Given the description of an element on the screen output the (x, y) to click on. 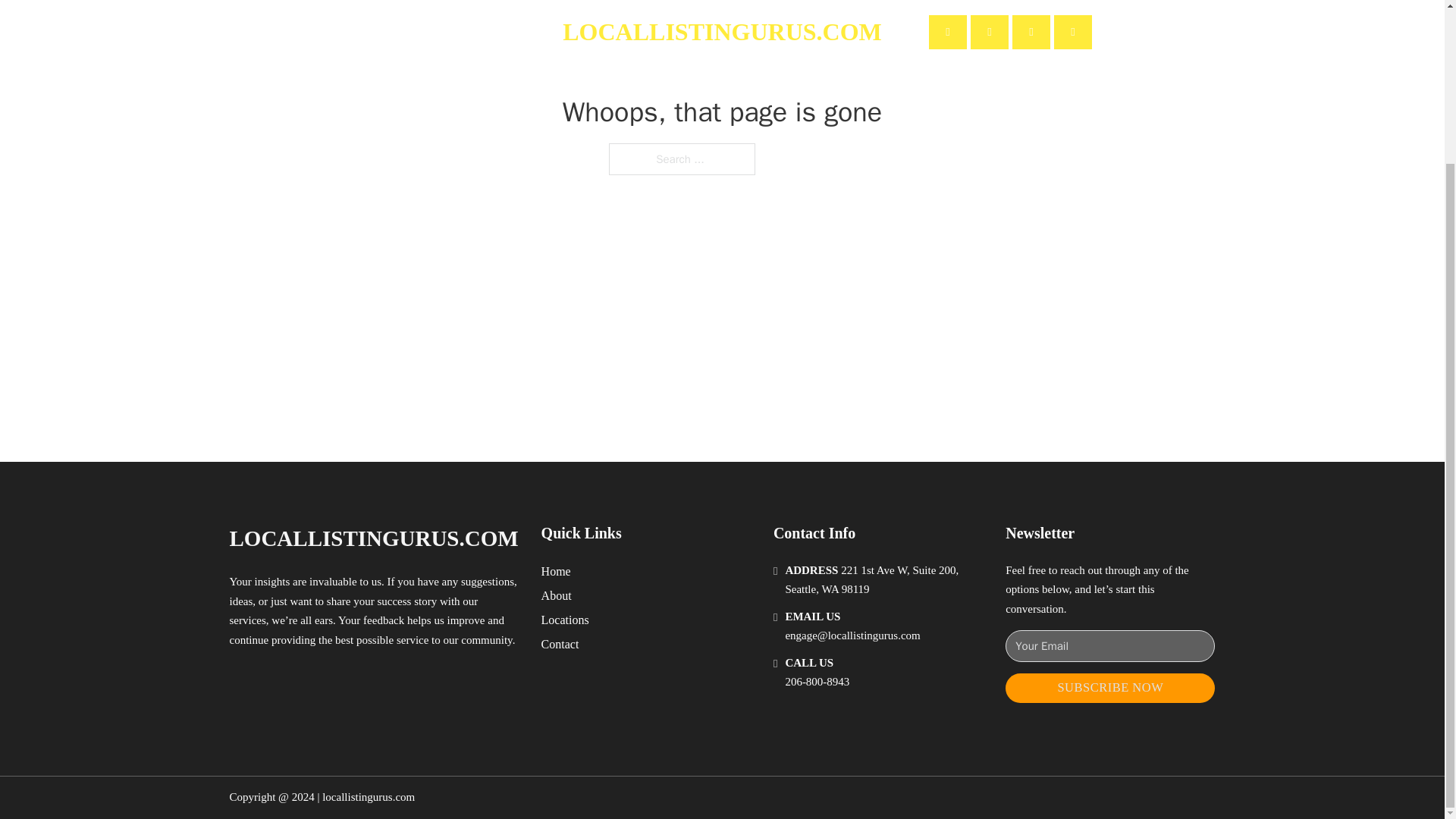
Contact (560, 643)
About (556, 595)
SUBSCRIBE NOW (1110, 687)
LOCALLISTINGURUS.COM (373, 538)
206-800-8943 (816, 681)
Locations (565, 619)
Home (555, 571)
